Given the description of an element on the screen output the (x, y) to click on. 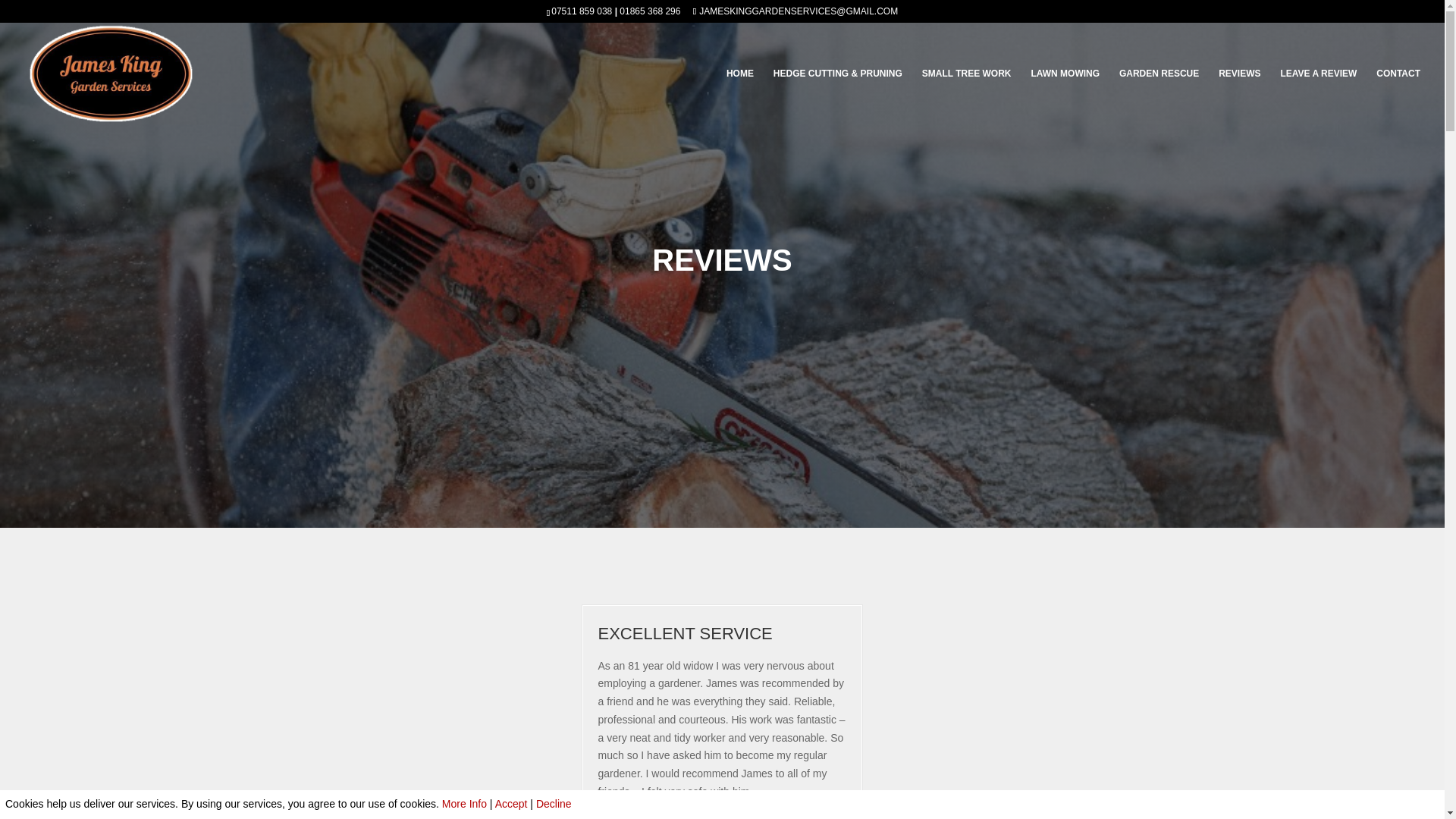
01865 368 296 (649, 10)
LEAVE A REVIEW (1317, 95)
LAWN MOWING (1064, 95)
07511 859 038 (581, 10)
Accept (511, 803)
SMALL TREE WORK (966, 95)
Decline (553, 803)
GARDEN RESCUE (1158, 95)
More Info (464, 803)
